Given the description of an element on the screen output the (x, y) to click on. 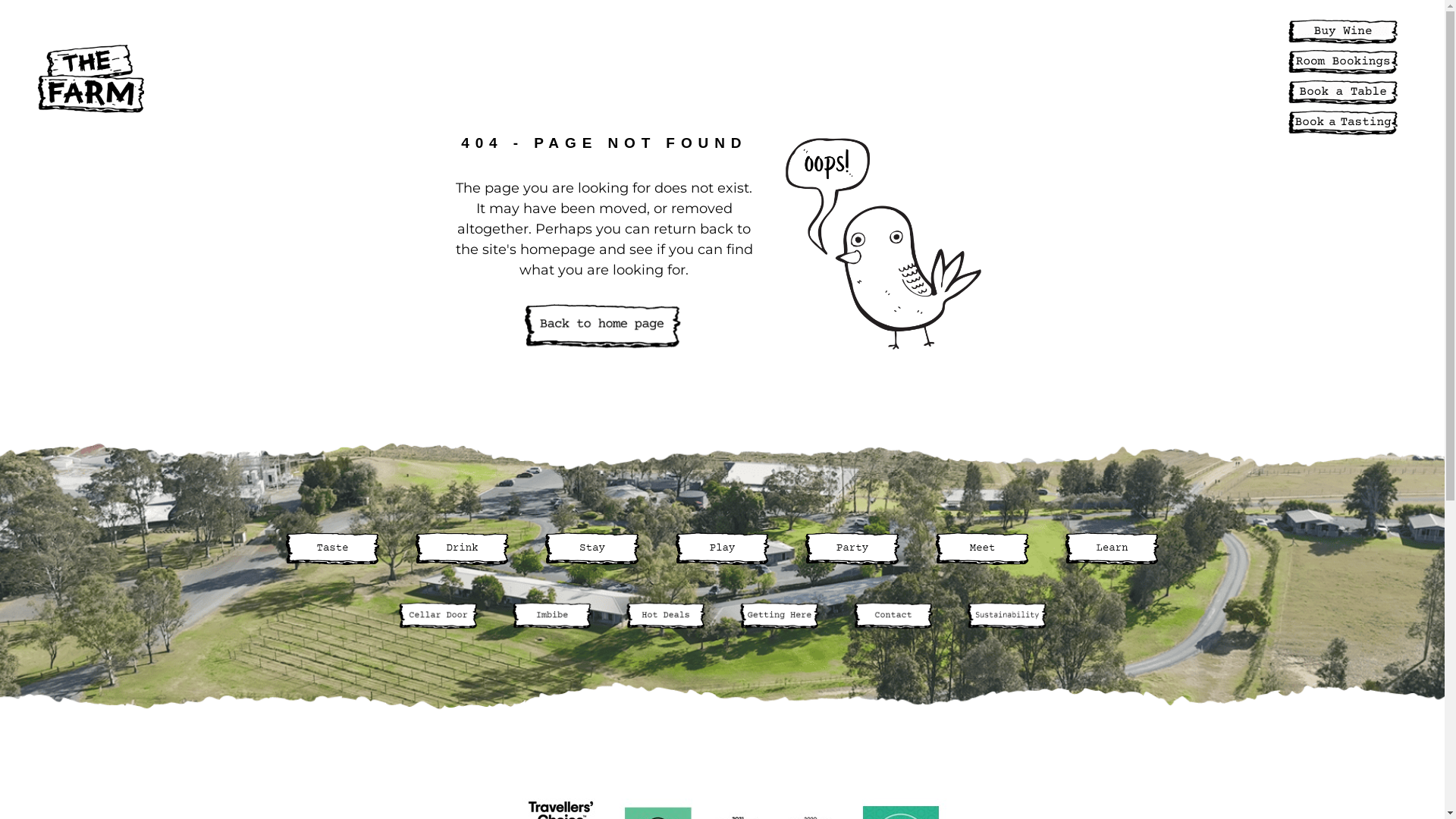
GETTING HERE Element type: text (1119, 76)
3-5 copy Element type: hover (1342, 122)
Getting Here-1 Element type: hover (778, 615)
TASTE Element type: text (291, 76)
2 Element type: hover (461, 547)
3-7 copy Element type: hover (1342, 92)
oops Element type: hover (882, 243)
IMBIBE Element type: text (920, 76)
3-8 copy Element type: hover (1342, 31)
Imbibe-9 Element type: hover (551, 615)
STAY Element type: text (417, 76)
Contact-12 Element type: hover (892, 615)
Meet-8 Element type: hover (982, 547)
Stay-5 Element type: hover (591, 547)
sustainability-Button-1 copy Element type: hover (1006, 615)
LEARN Element type: text (661, 76)
3-6 copy Element type: hover (1342, 62)
PARTY Element type: text (536, 76)
HOT DEALS Element type: text (1007, 76)
CELLAR DOOR Element type: text (755, 76)
MEET Element type: text (598, 76)
DRINK Element type: text (357, 76)
MENUS Element type: text (850, 76)
PLAY Element type: text (474, 76)
CONTACT Element type: text (1225, 76)
Hot Deals-7 Element type: hover (664, 615)
Play-6 Element type: hover (721, 547)
FINAL The Farm Buttons Element type: hover (604, 327)
3 Element type: hover (331, 547)
Party-4 Element type: hover (851, 547)
Learn-10 Element type: hover (1111, 547)
Cellar Door-11 Element type: hover (437, 615)
The-Farm-Logo Element type: hover (90, 78)
